Given the description of an element on the screen output the (x, y) to click on. 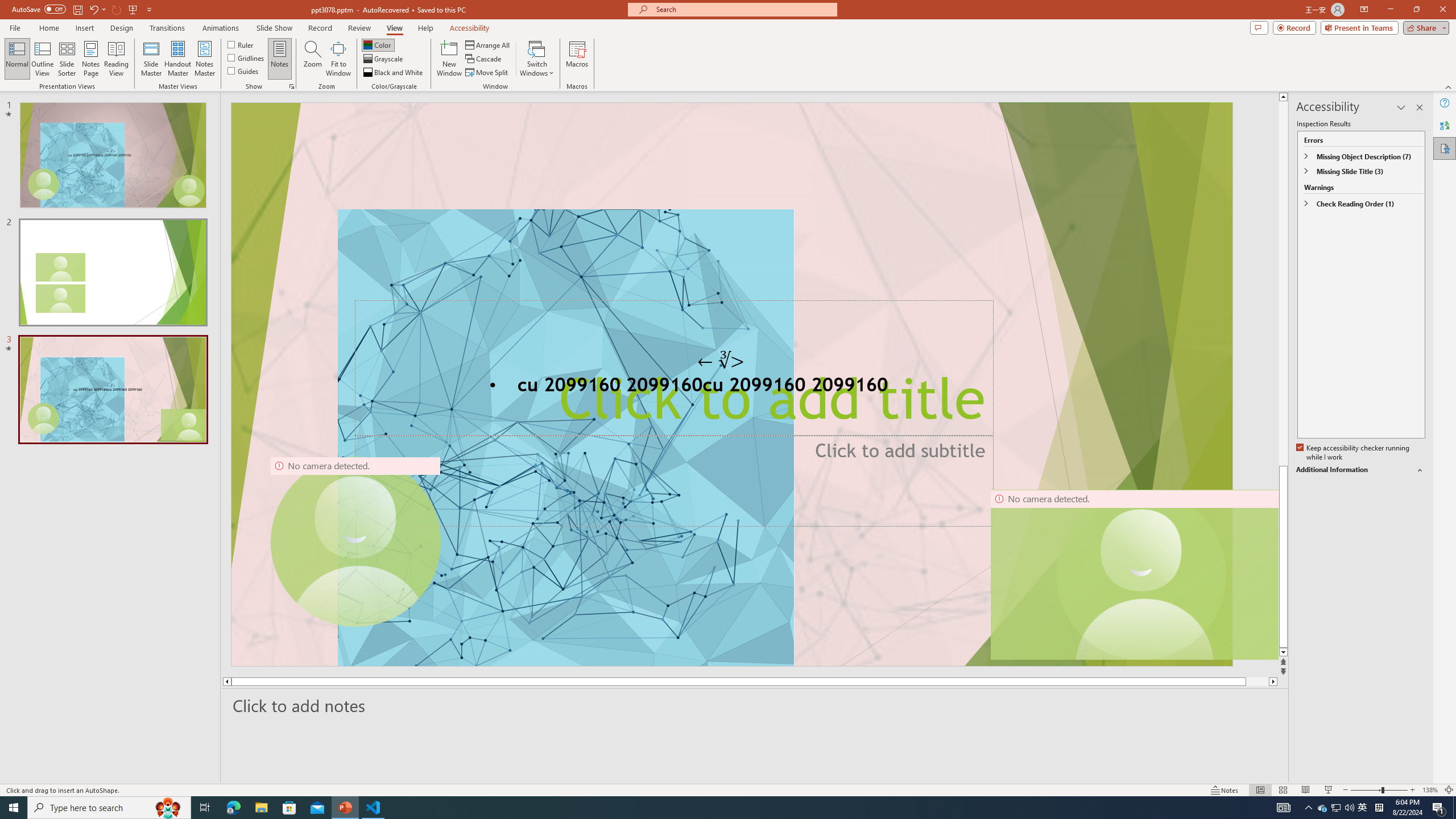
Macros (576, 58)
Zoom 138% (1430, 790)
Camera 11, No camera detected. (1141, 574)
